Given the description of an element on the screen output the (x, y) to click on. 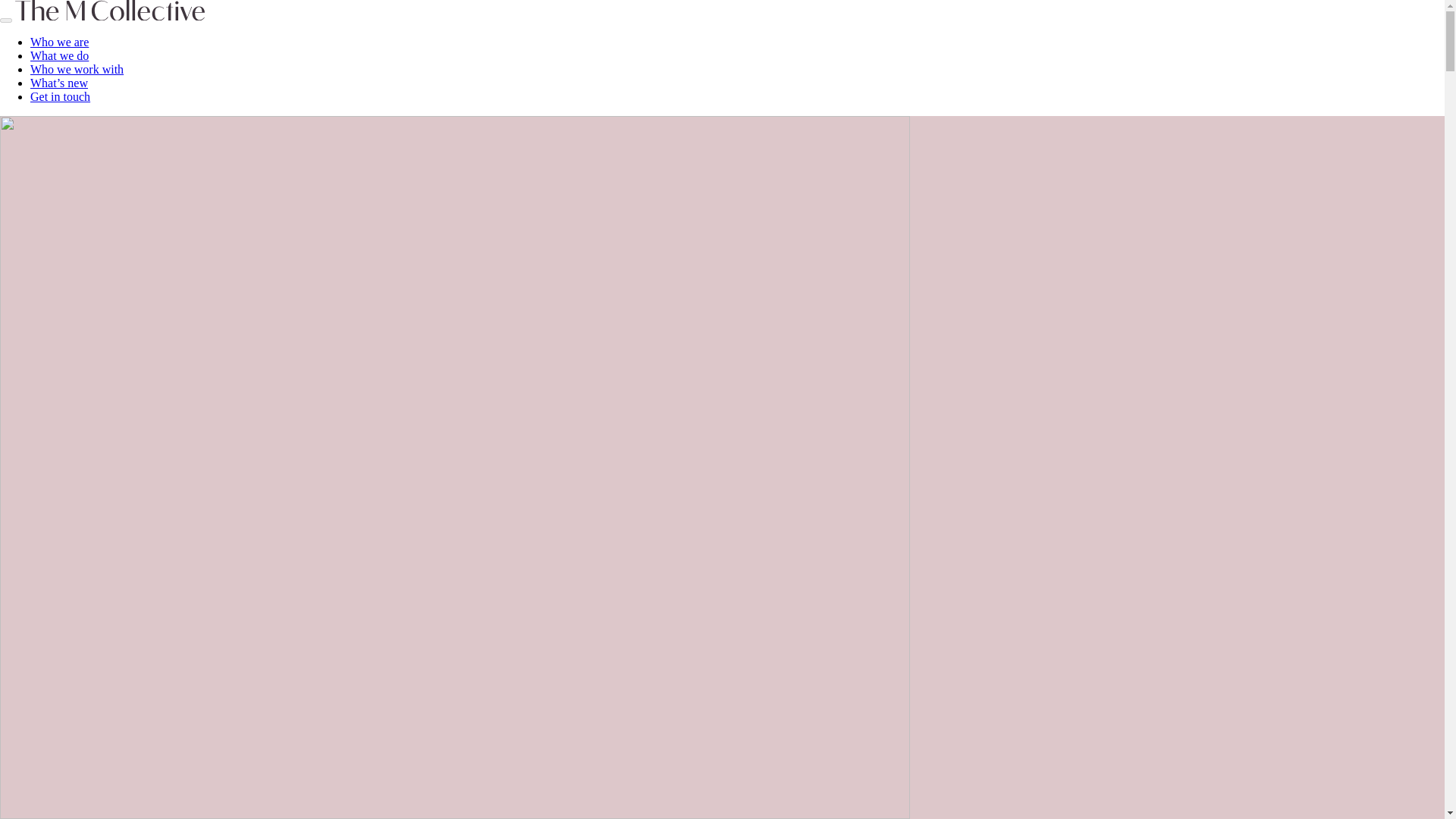
Who we are (59, 42)
Get in touch (60, 96)
What we do (59, 55)
Who we work with (76, 69)
